Given the description of an element on the screen output the (x, y) to click on. 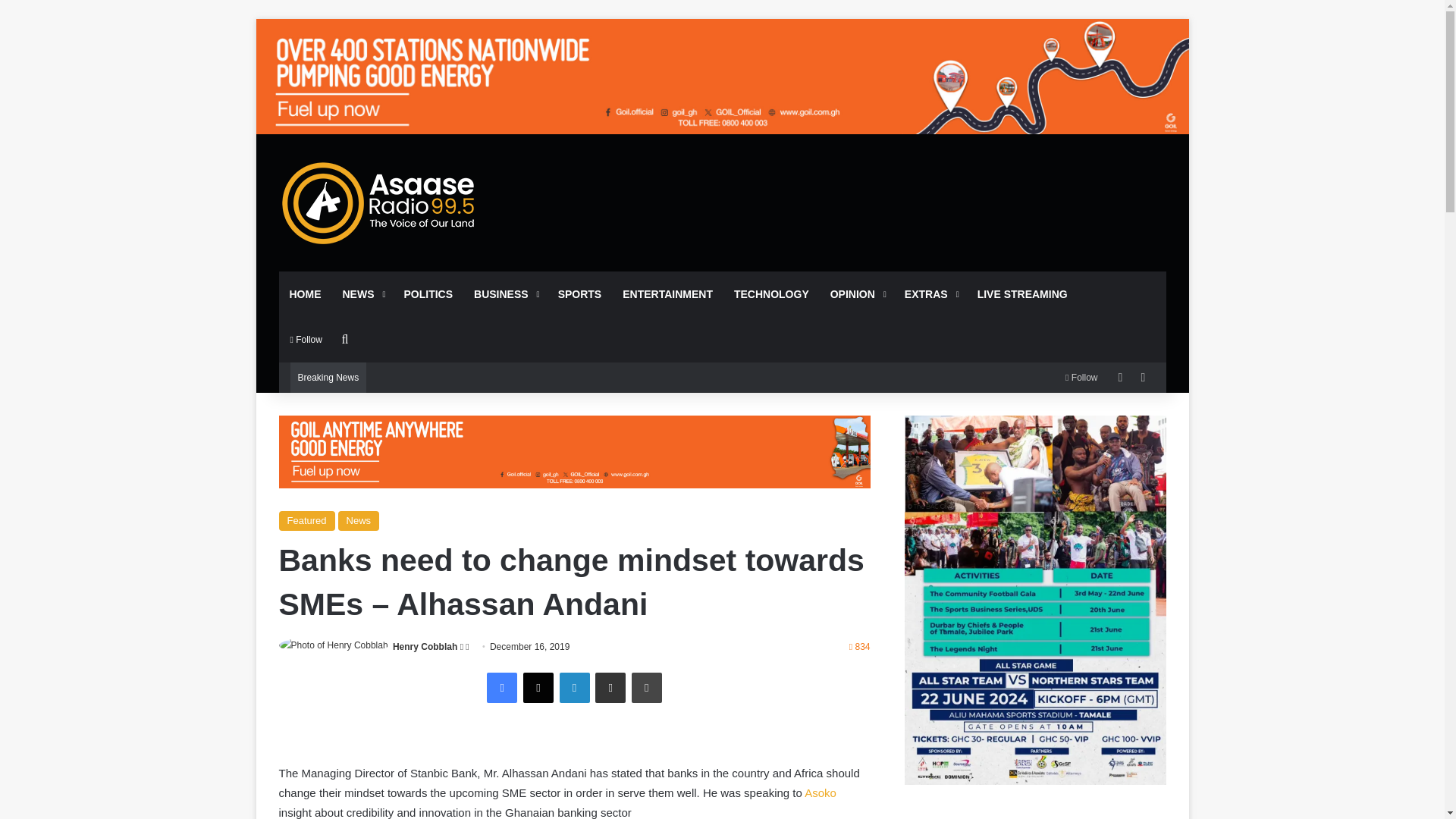
Asaase Radio (379, 202)
X (537, 687)
Henry Cobblah (425, 646)
LinkedIn (574, 687)
POLITICS (428, 293)
NEWS (362, 293)
BUSINESS (505, 293)
Facebook (501, 687)
Share via Email (610, 687)
HOME (305, 293)
